Given the description of an element on the screen output the (x, y) to click on. 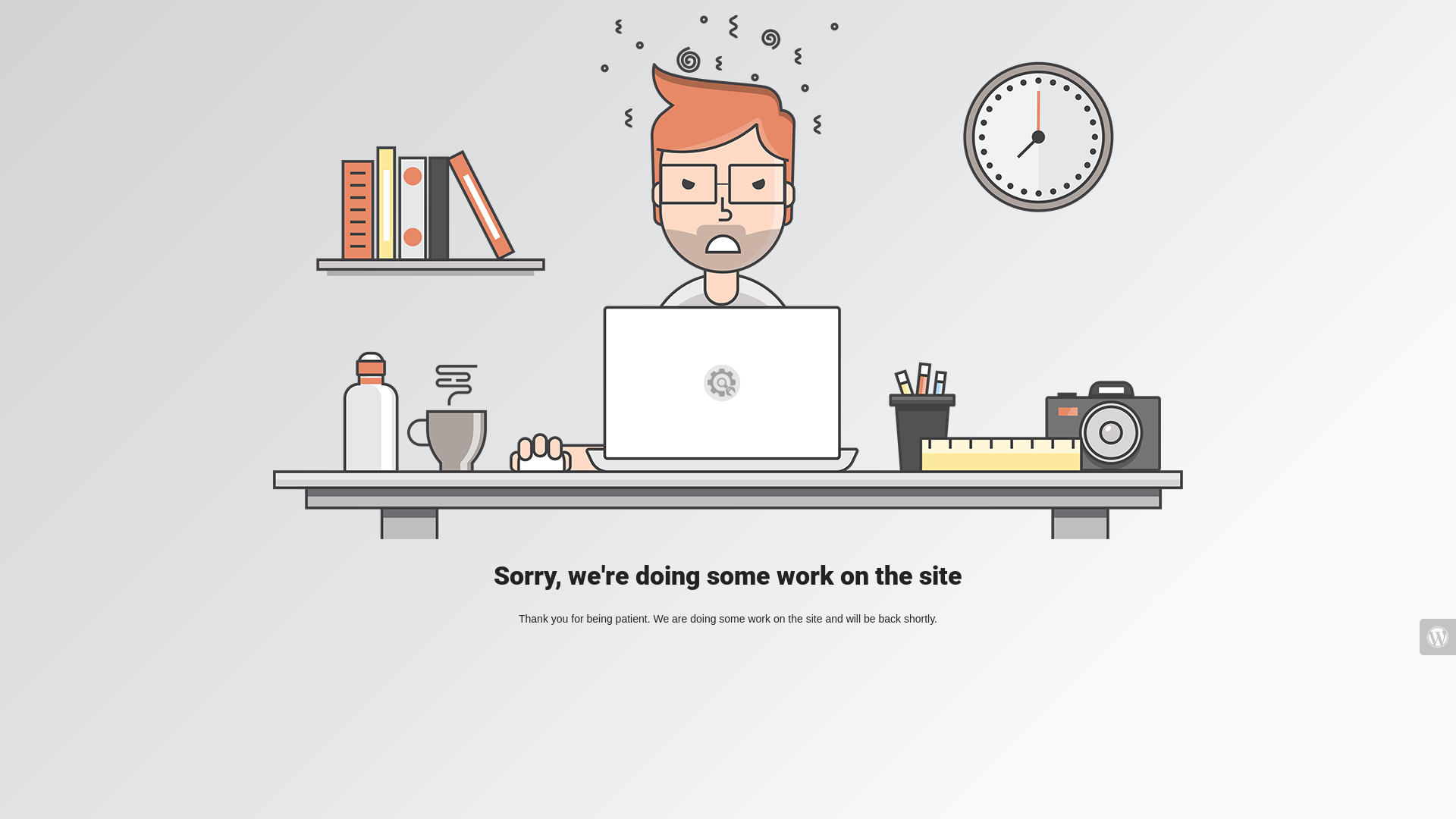
Mad Designer at work Element type: hover (728, 277)
